Given the description of an element on the screen output the (x, y) to click on. 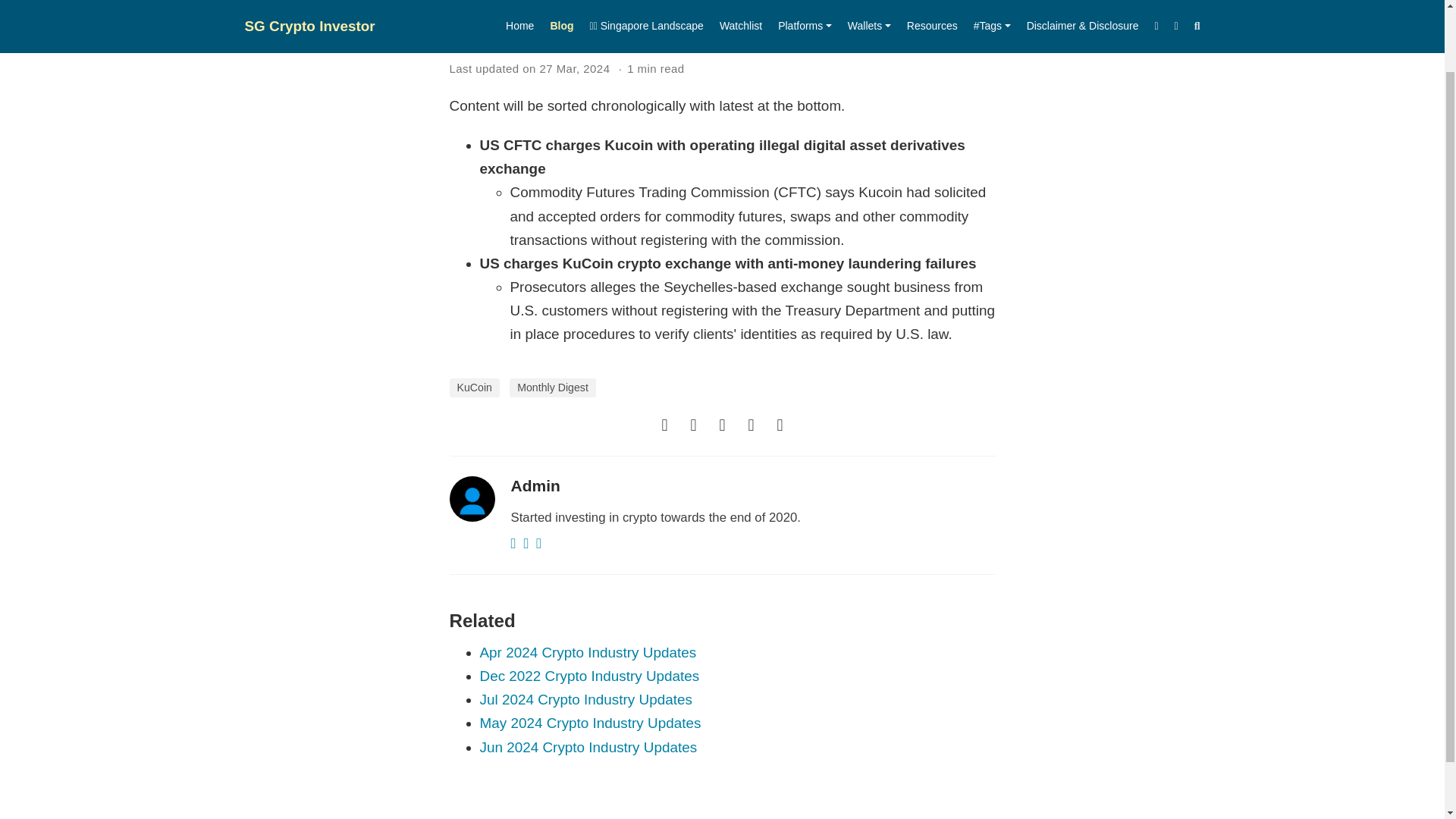
Monthly Digest (552, 387)
KuCoin (473, 387)
